Given the description of an element on the screen output the (x, y) to click on. 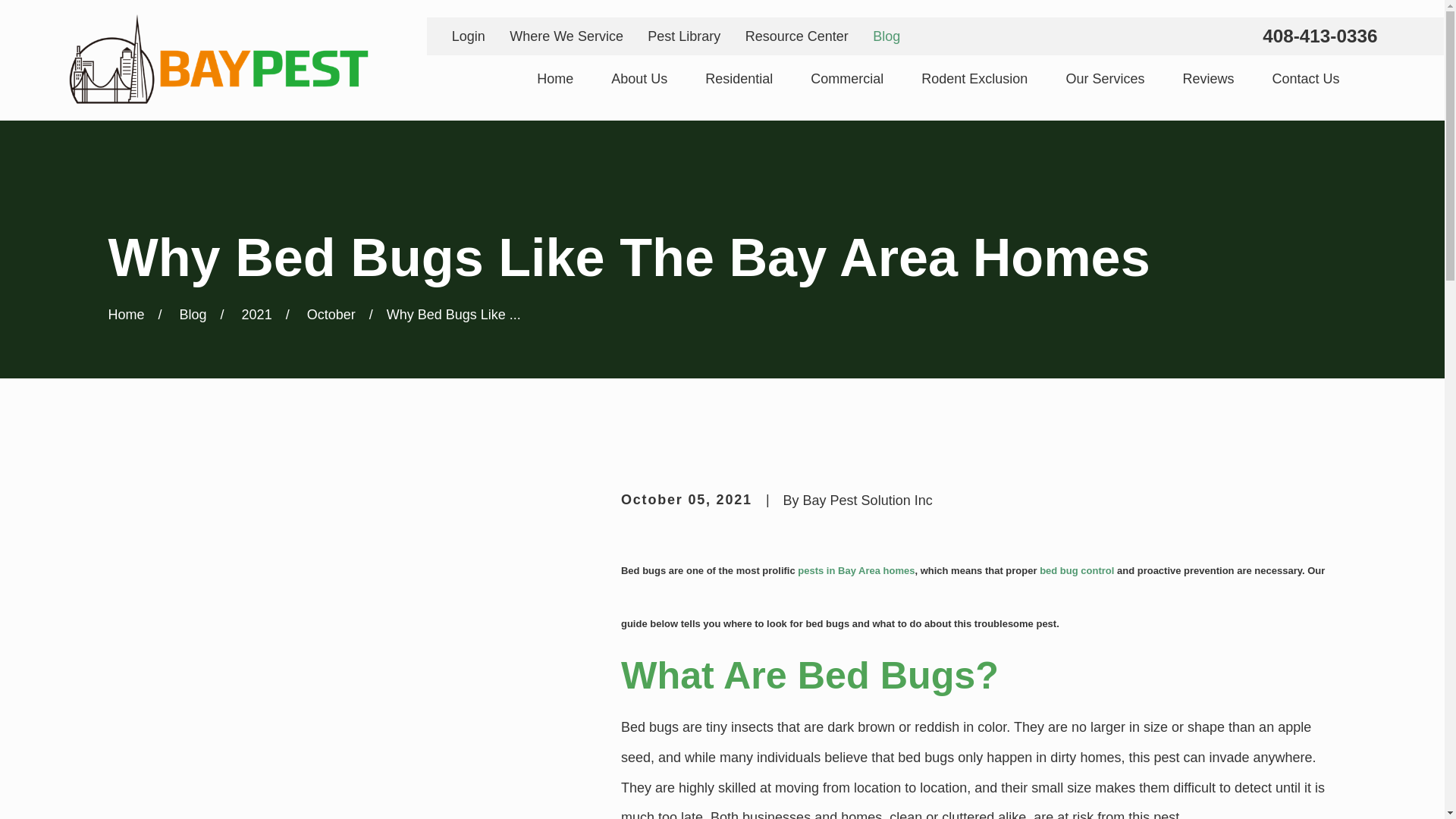
About Us (638, 78)
Rodent Exclusion (974, 78)
Pest Library (683, 36)
408-413-0336 (1319, 35)
Home (555, 78)
Commercial (846, 78)
Contact Us (1305, 78)
Go Home (125, 314)
Home (217, 60)
Residential (738, 78)
Login (467, 36)
Where We Service (566, 36)
Blog (885, 36)
Resource Center (796, 36)
Our Services (1104, 78)
